Given the description of an element on the screen output the (x, y) to click on. 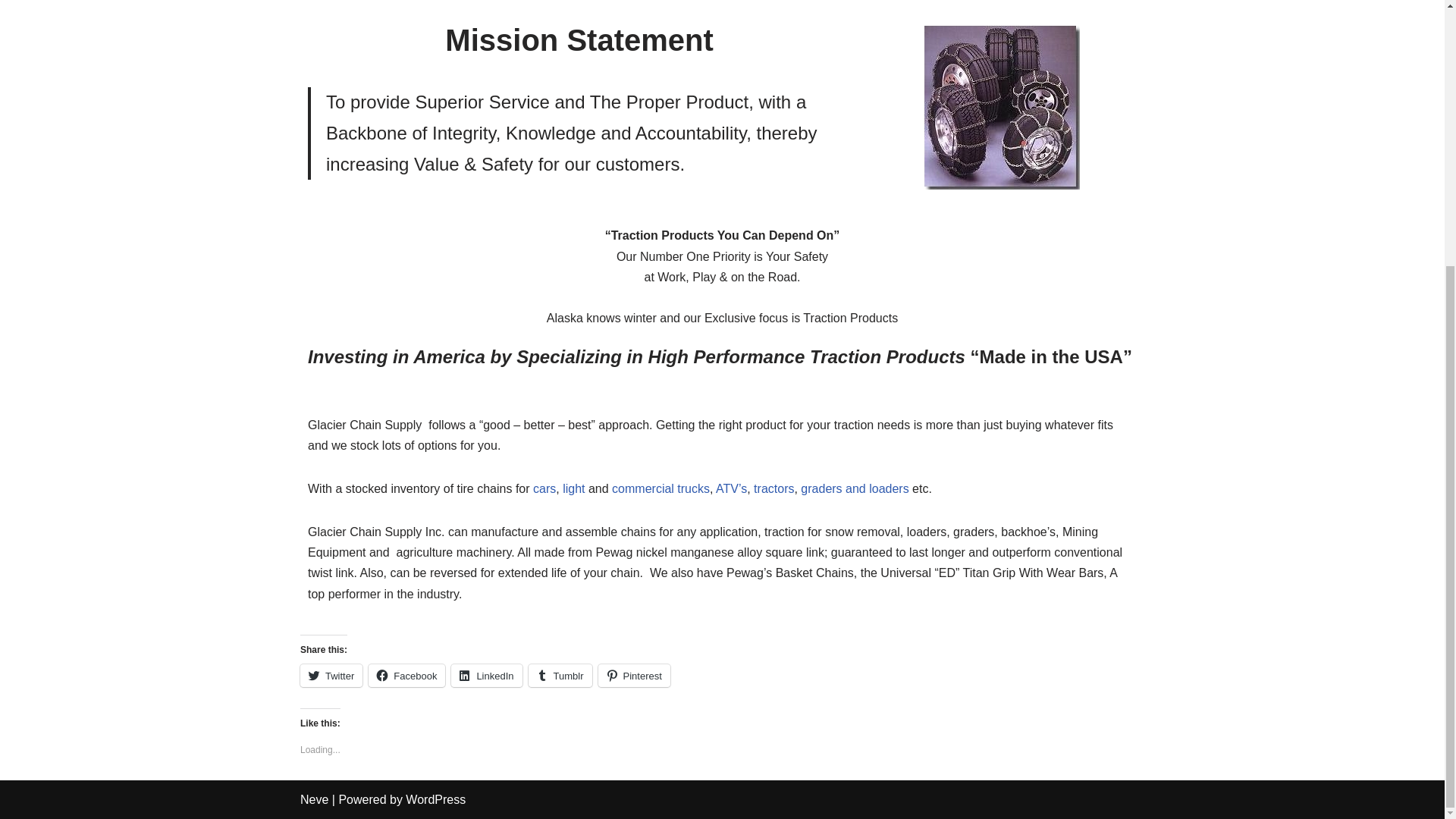
Click to share on Facebook (406, 675)
Click to share on Tumblr (560, 675)
Click to share on Twitter (330, 675)
Click to share on LinkedIn (486, 675)
Click to share on Pinterest (633, 675)
